Given the description of an element on the screen output the (x, y) to click on. 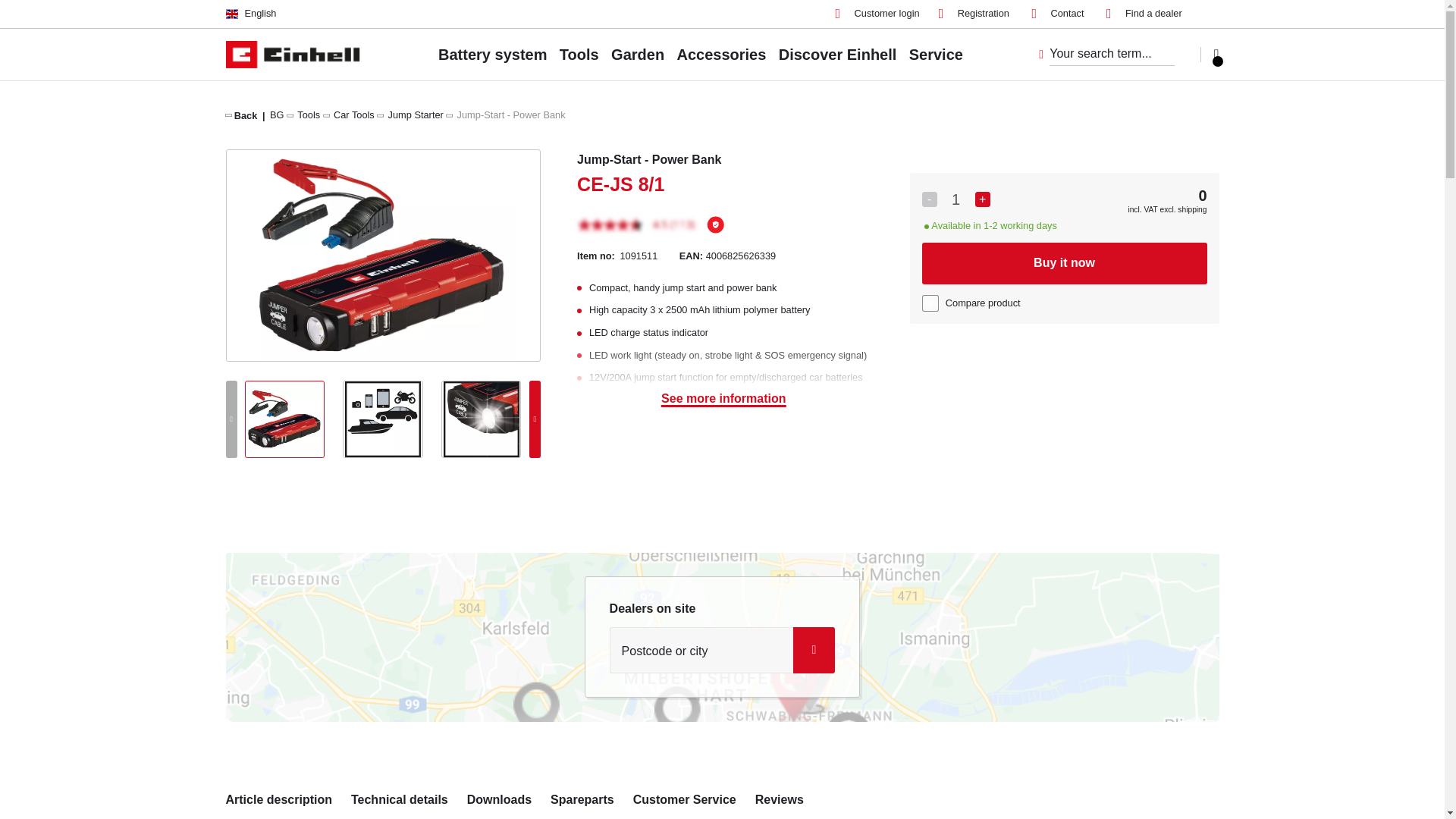
Customer login (877, 13)
BG (276, 114)
Battery system (492, 54)
1 (956, 199)
Jump Starter (416, 114)
Contact (1056, 13)
Find a dealer (1144, 13)
Car Tools (353, 114)
Tools (308, 114)
Registration (974, 13)
